Given the description of an element on the screen output the (x, y) to click on. 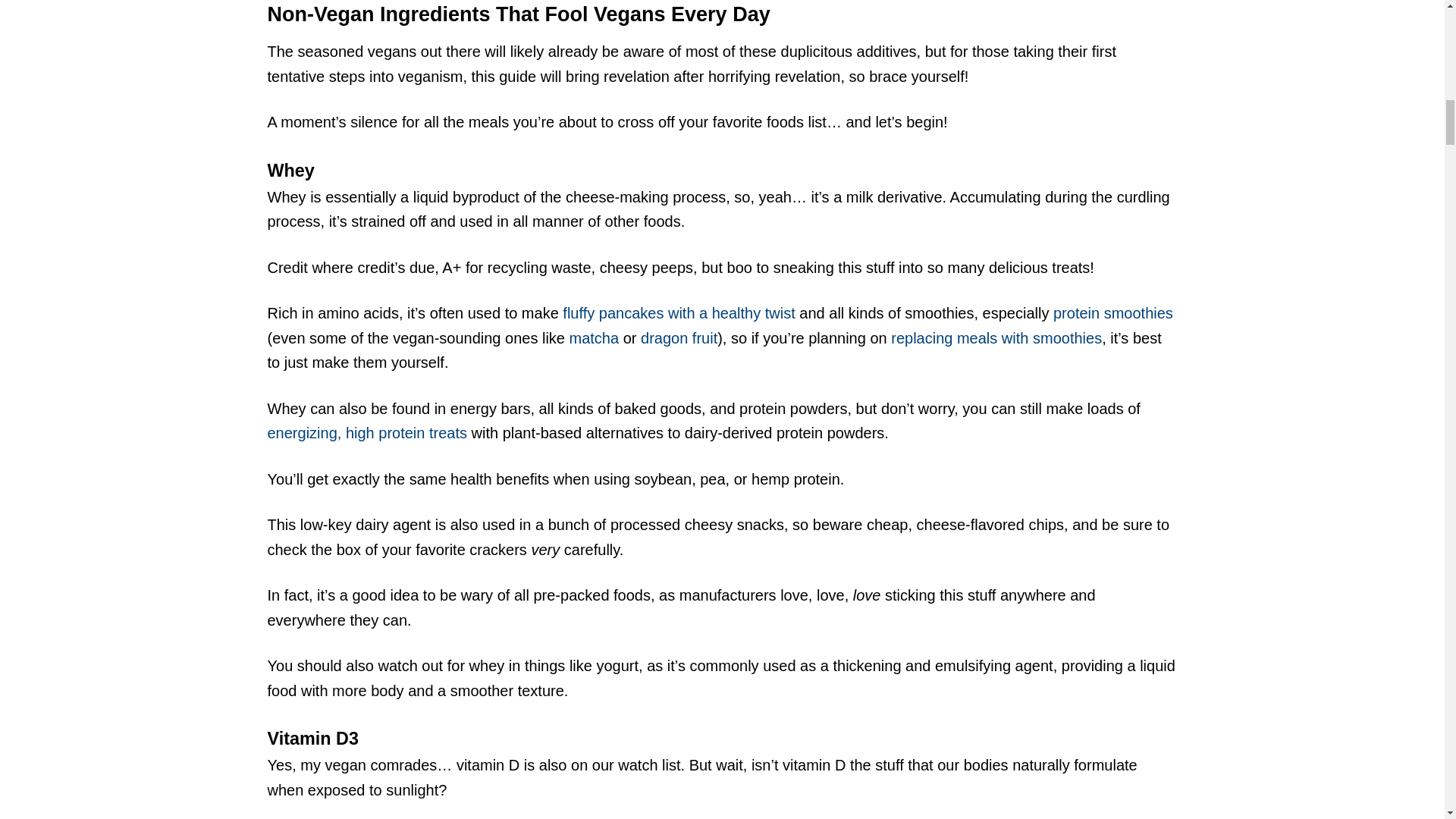
energizing, high protein treats (366, 433)
fluffy pancakes with a healthy twist (678, 312)
protein smoothies (1112, 312)
replacing meals with smoothies (996, 338)
matcha (594, 338)
dragon fruit (678, 338)
